Given the description of an element on the screen output the (x, y) to click on. 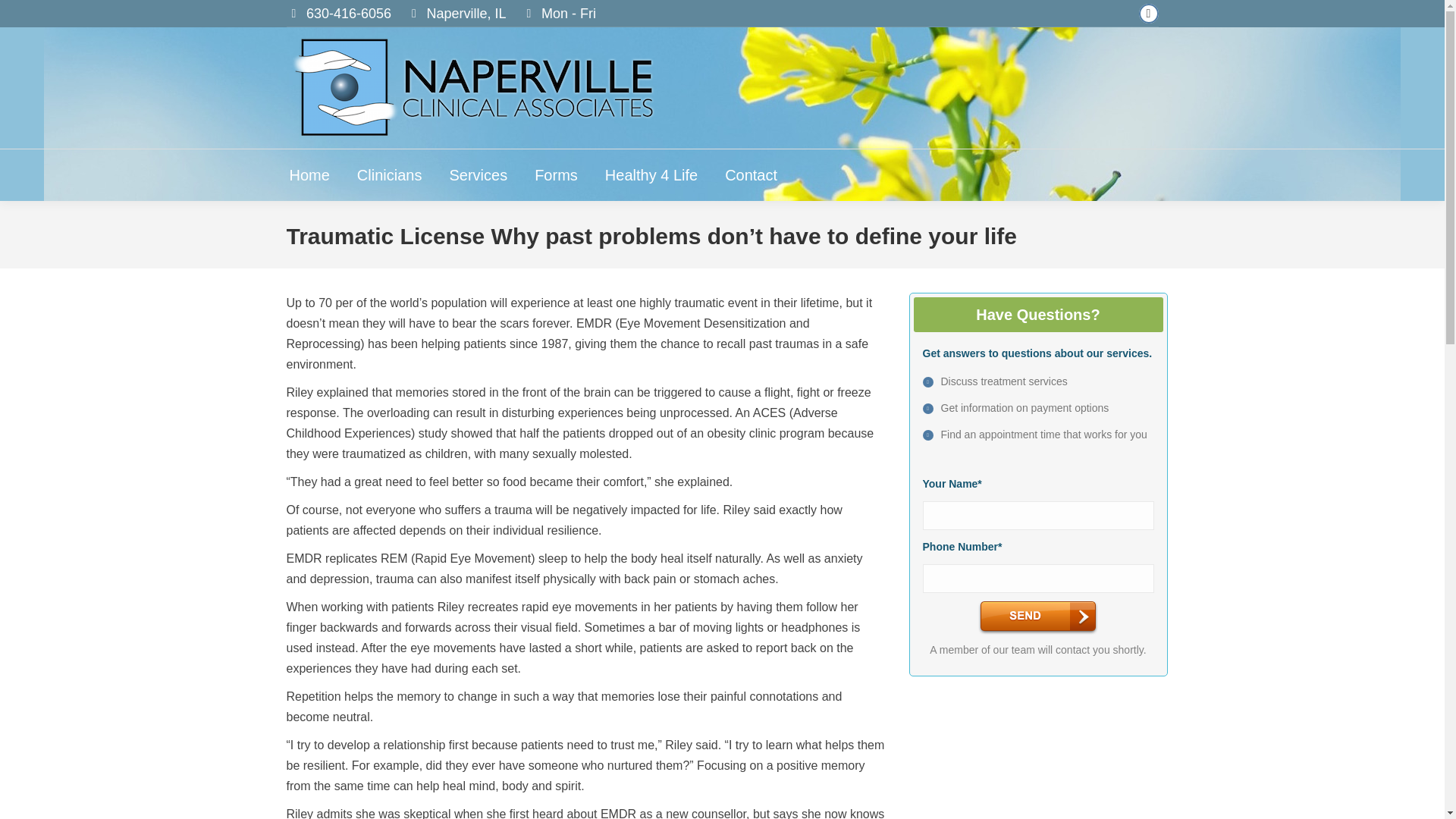
Facebook page opens in new window (1148, 13)
Forms (555, 174)
Facebook page opens in new window (1148, 13)
Services (478, 174)
Clinicians (389, 174)
Healthy 4 Life (651, 174)
Contact (751, 174)
Naperville, IL (465, 13)
Home (309, 174)
